Given the description of an element on the screen output the (x, y) to click on. 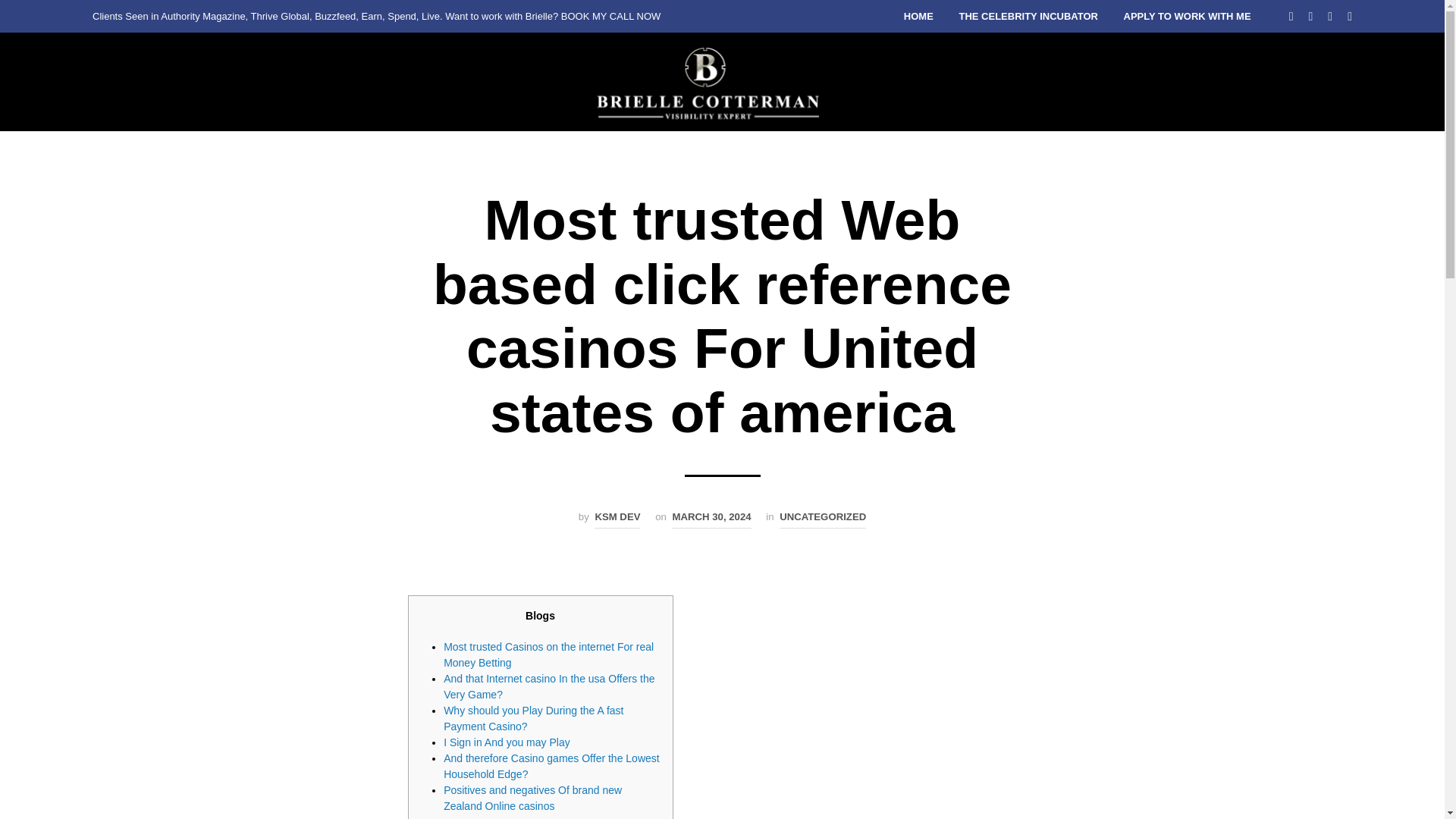
And that Internet casino In the usa Offers the Very Game? (548, 686)
I Sign in And you may Play (507, 742)
HOME (918, 16)
APPLY TO WORK WITH ME (1187, 16)
UNCATEGORIZED (822, 518)
Why should you Play During the A fast Payment Casino? (533, 718)
Most trusted Casinos on the internet For real Money Betting (548, 654)
THE CELEBRITY INCUBATOR (1027, 16)
KSM DEV (617, 518)
And therefore Casino games Offer the Lowest Household Edge? (551, 766)
View all posts by KSM DEV (617, 518)
Positives and negatives Of brand new Zealand Online casinos (532, 797)
MARCH 30, 2024 (711, 518)
Celebrity Maker and Publicity Expert (710, 81)
